Given the description of an element on the screen output the (x, y) to click on. 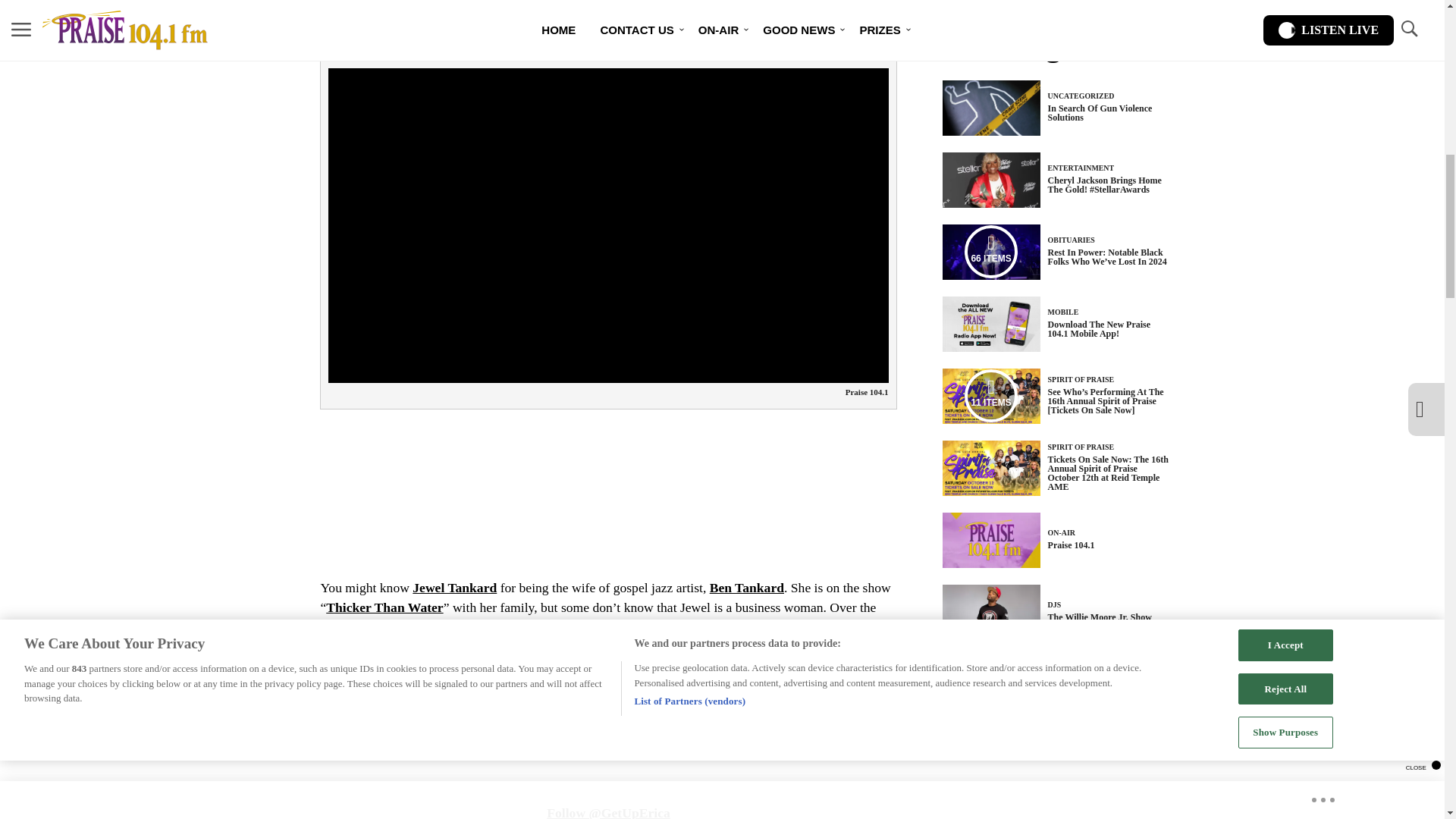
Media Playlist (990, 395)
Thicker Than Water (384, 607)
Embedded content (608, 466)
Ben Tankard (747, 587)
Media Playlist (990, 251)
Jewel Tankard (454, 587)
